Given the description of an element on the screen output the (x, y) to click on. 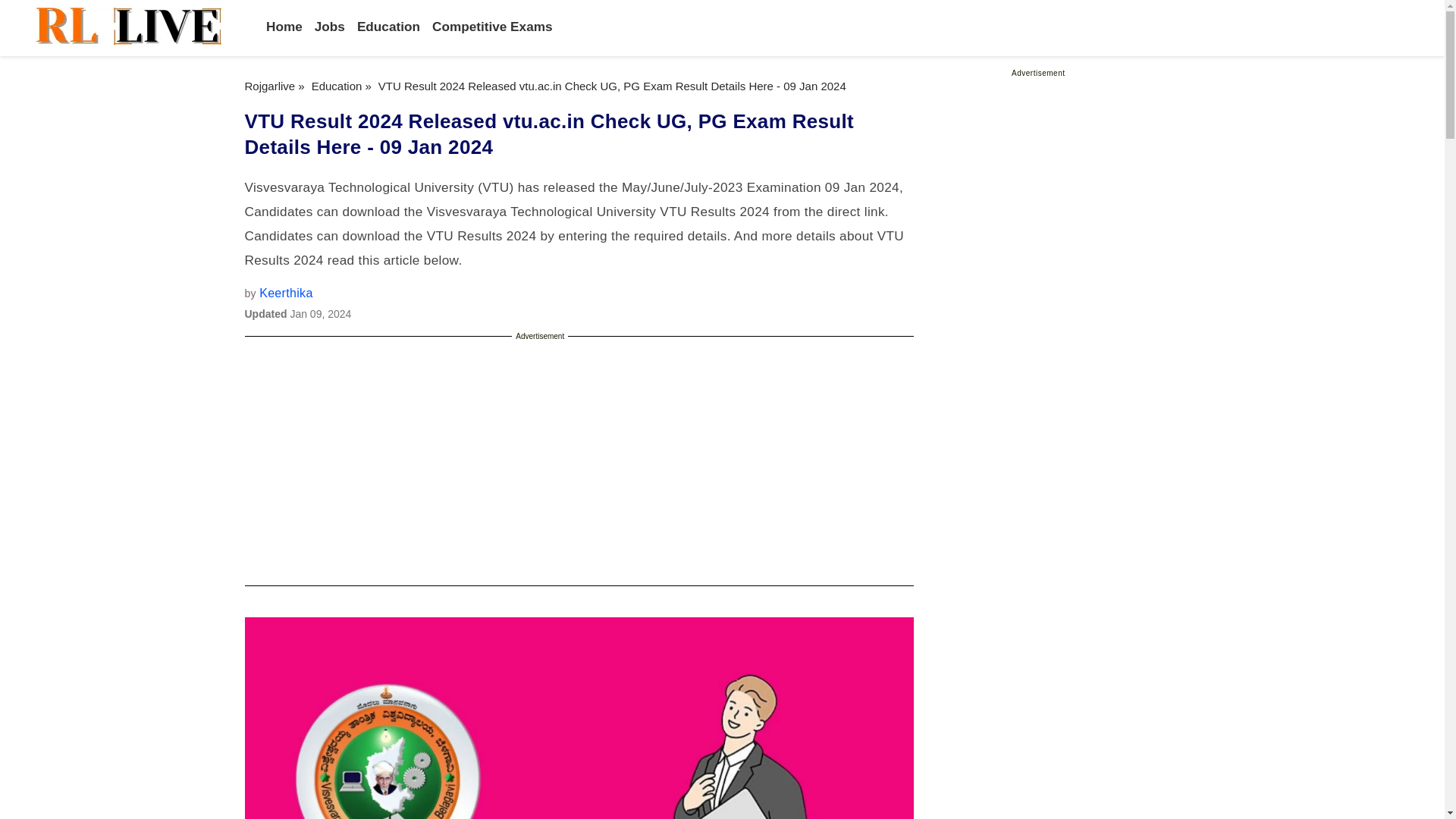
Education (388, 26)
Competitive Exams (492, 26)
Keerthika (286, 292)
Home (284, 26)
Education (336, 85)
Rojgarlive (269, 85)
Jobs (329, 26)
